Given the description of an element on the screen output the (x, y) to click on. 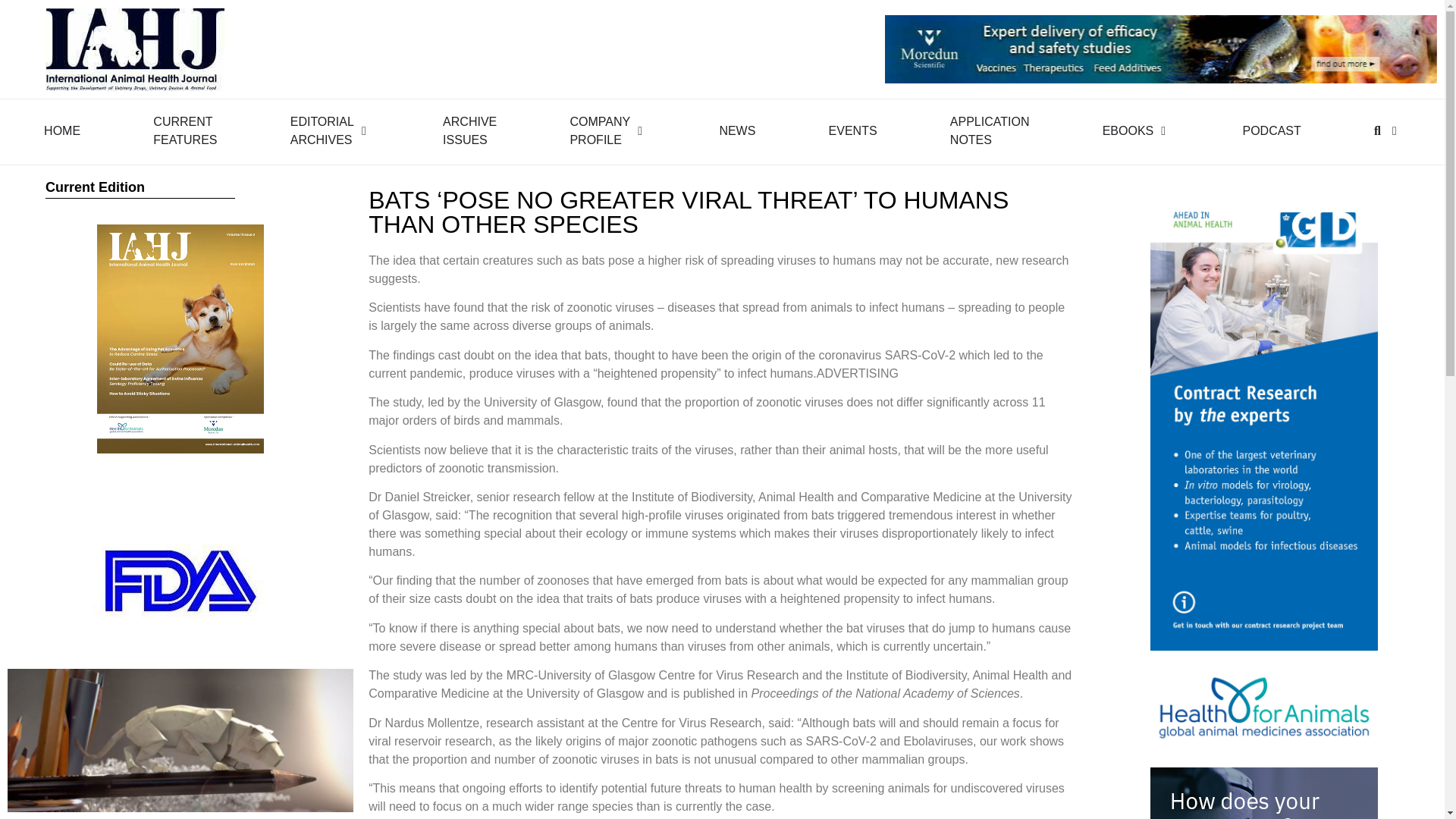
EBOOKS (1128, 131)
HOME (321, 131)
PODCAST (469, 131)
Volume 11 Issue 2 (61, 131)
EVENTS (599, 131)
NEWS (989, 131)
